Given the description of an element on the screen output the (x, y) to click on. 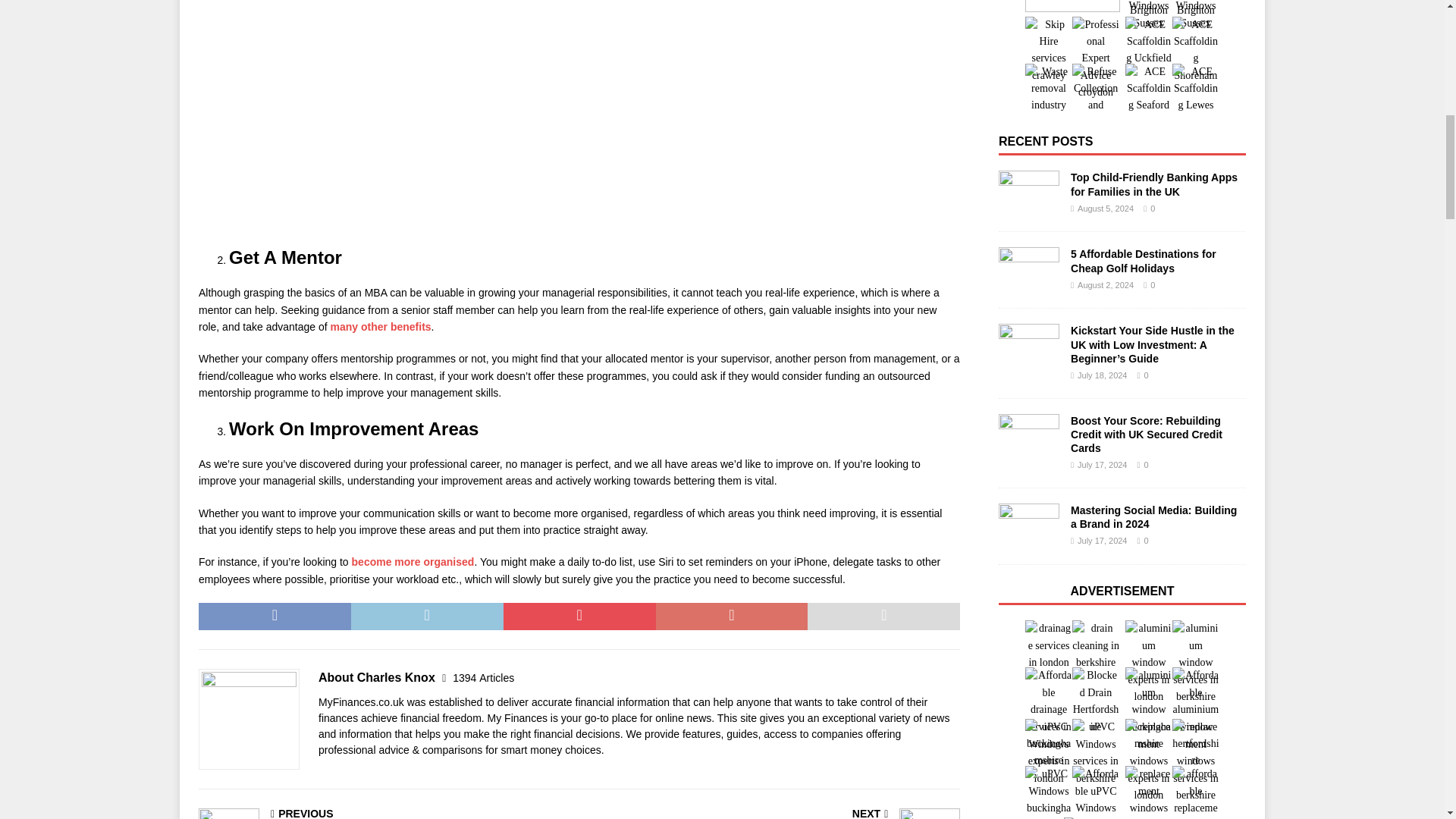
become more organised (413, 562)
many other benefits (380, 326)
More articles written by Charles Knox' (482, 677)
